Given the description of an element on the screen output the (x, y) to click on. 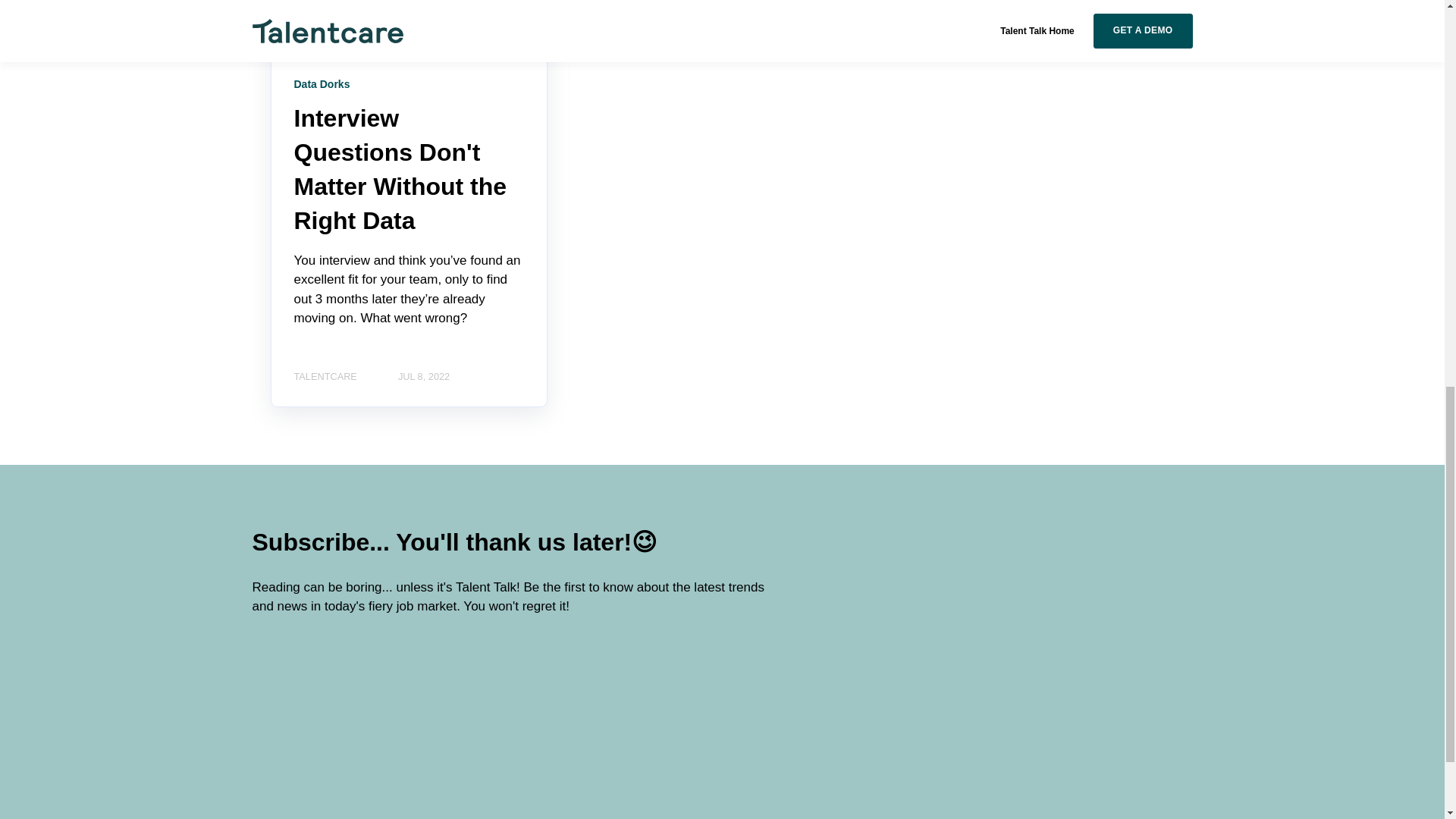
Form 0 (371, 713)
Interview Questions Don't Matter Without the Right Data (400, 168)
